Given the description of an element on the screen output the (x, y) to click on. 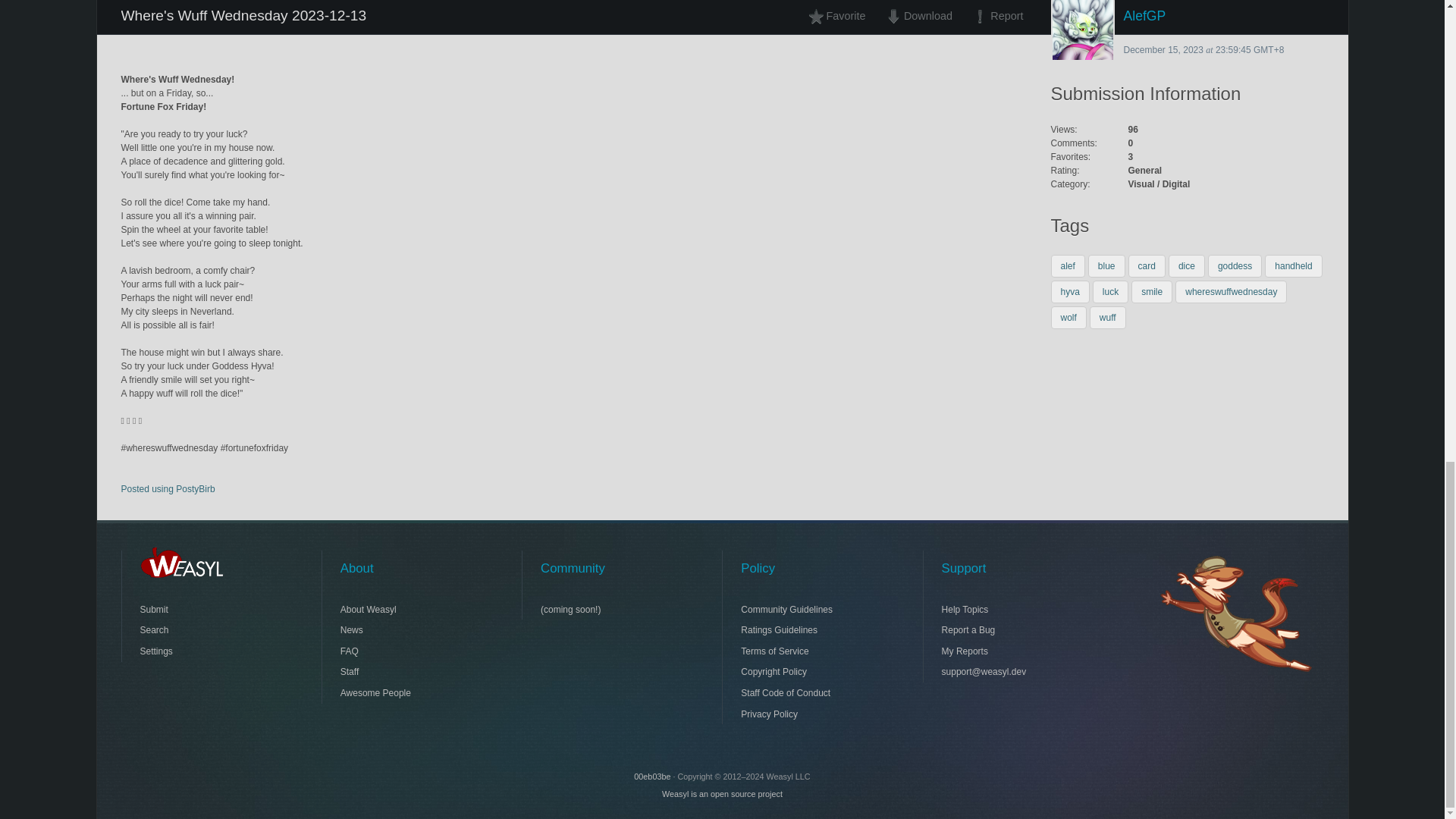
wolf (1068, 317)
wuff (1107, 317)
smile (1151, 291)
whereswuffwednesday (1230, 291)
Posted using PostyBirb (167, 489)
handheld (1293, 265)
alef (1067, 265)
Report (993, 17)
dice (1187, 265)
card (1147, 265)
goddess (1235, 265)
Download (918, 17)
Favorite (841, 17)
AlefGP (1187, 17)
hyva (1070, 291)
